Given the description of an element on the screen output the (x, y) to click on. 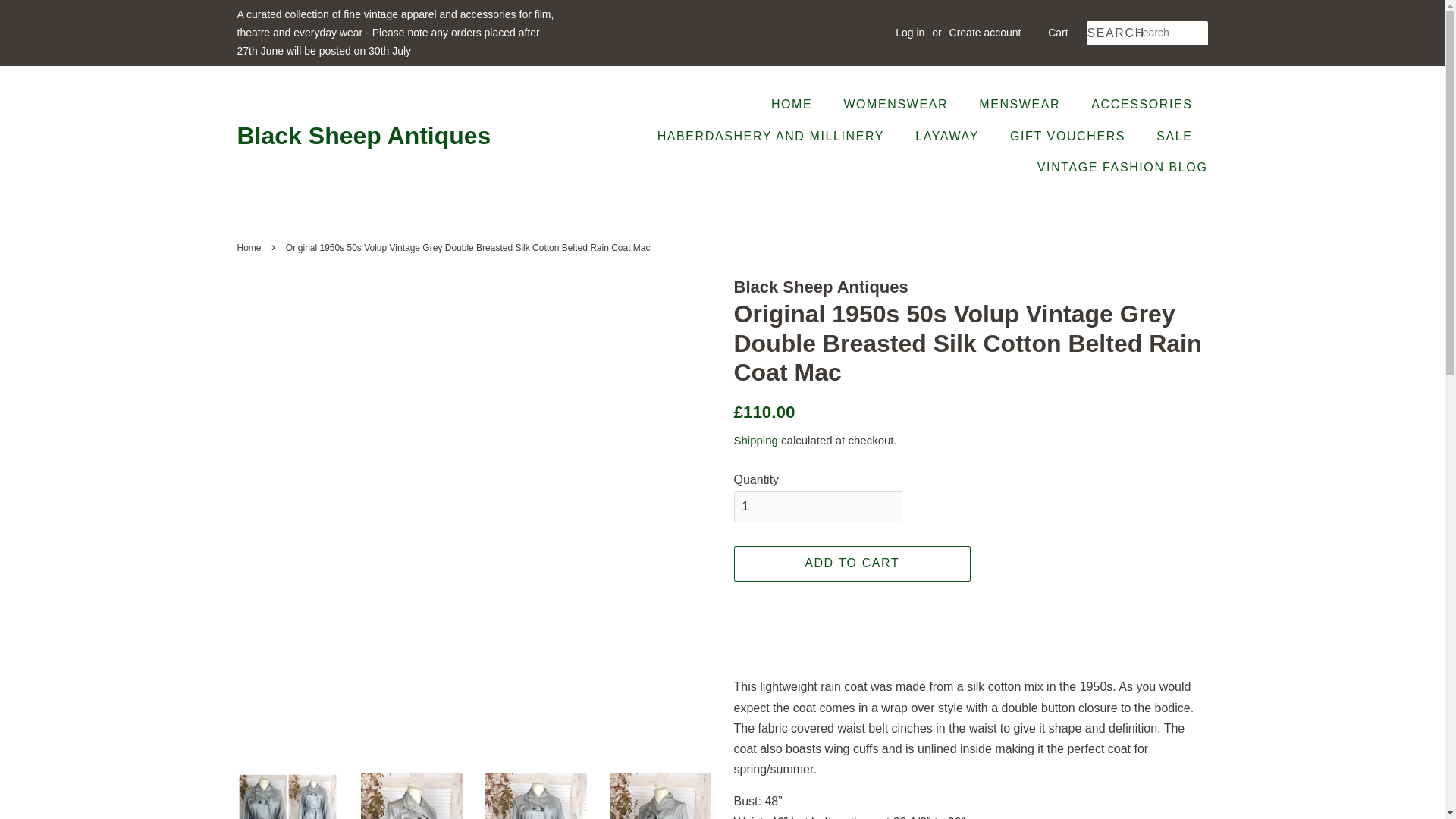
HOME (799, 103)
Black Sheep Antiques (362, 135)
SEARCH (1110, 33)
Create account (985, 32)
Back to the frontpage (249, 247)
Log in (909, 32)
Cart (1057, 33)
1 (817, 506)
